Given the description of an element on the screen output the (x, y) to click on. 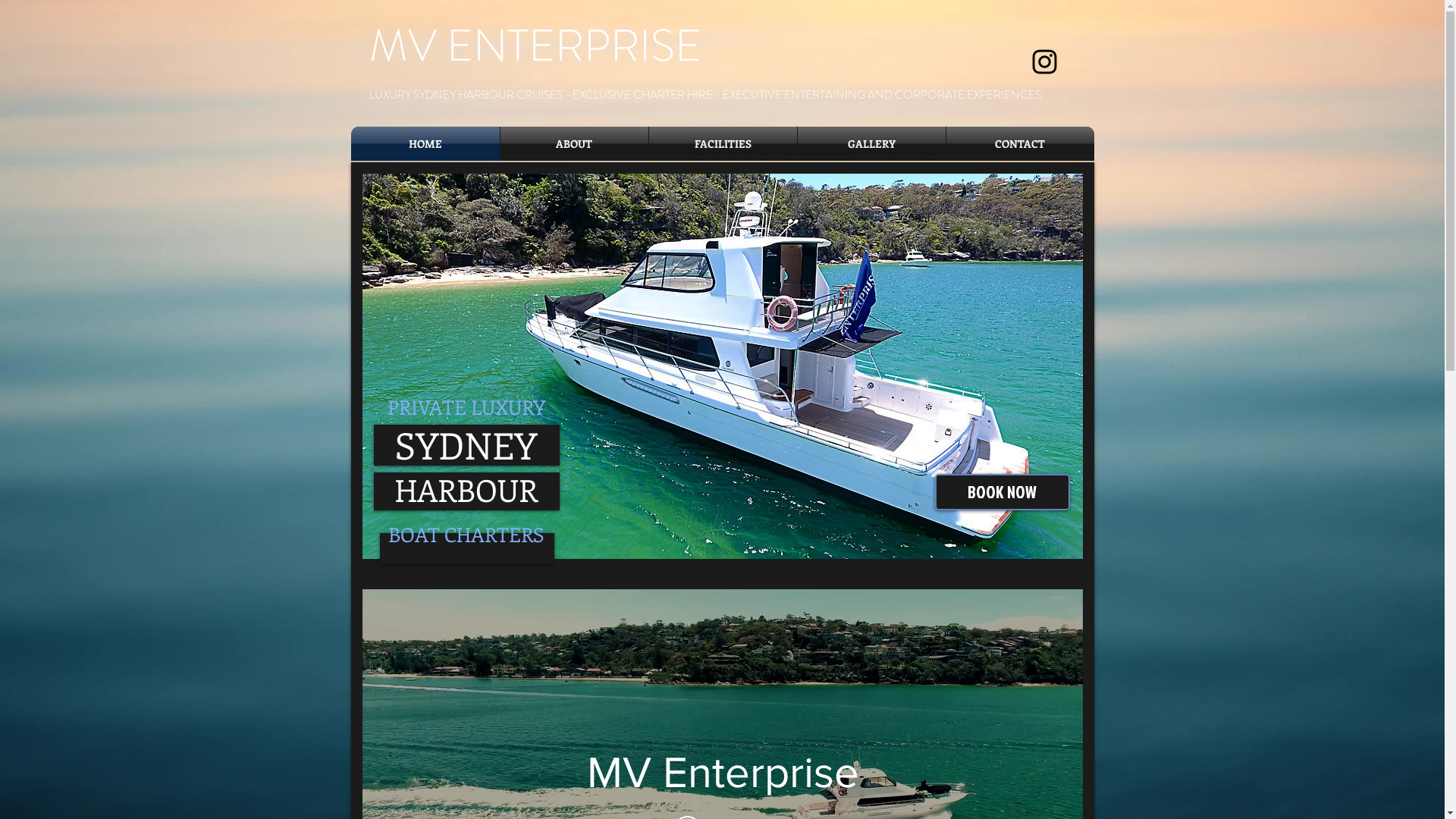
BOOK NOW Element type: text (1001, 491)
FACILITIES Element type: text (723, 143)
CONTACT Element type: text (1020, 143)
ABOUT Element type: text (574, 143)
HOME Element type: text (424, 143)
GALLERY Element type: text (871, 143)
